Given the description of an element on the screen output the (x, y) to click on. 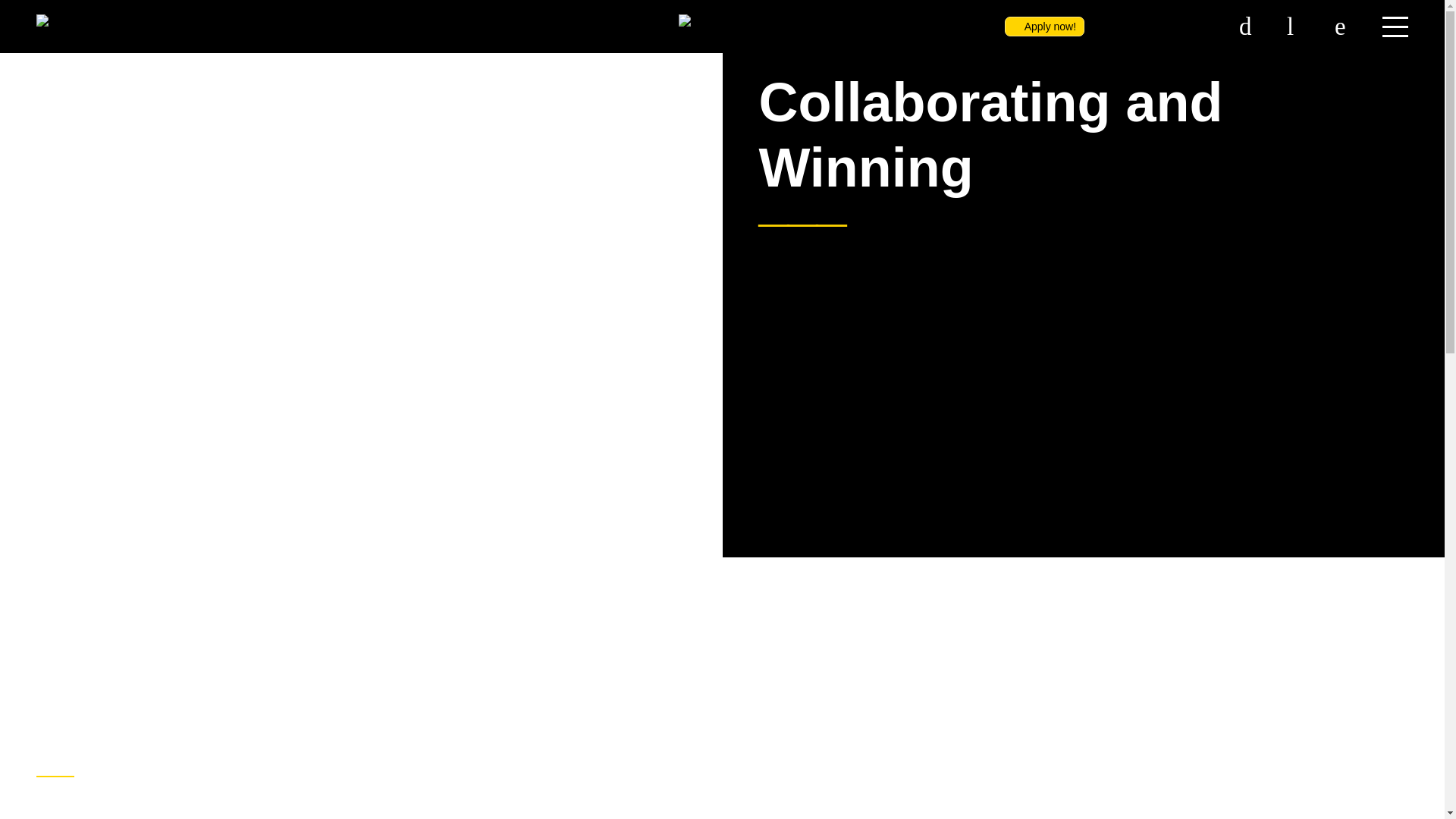
Apply now! (1044, 26)
Search (1347, 25)
Share page (1299, 25)
Apply now! (1044, 26)
UMB - Home (55, 23)
ServiceDesk (1251, 25)
